Given the description of an element on the screen output the (x, y) to click on. 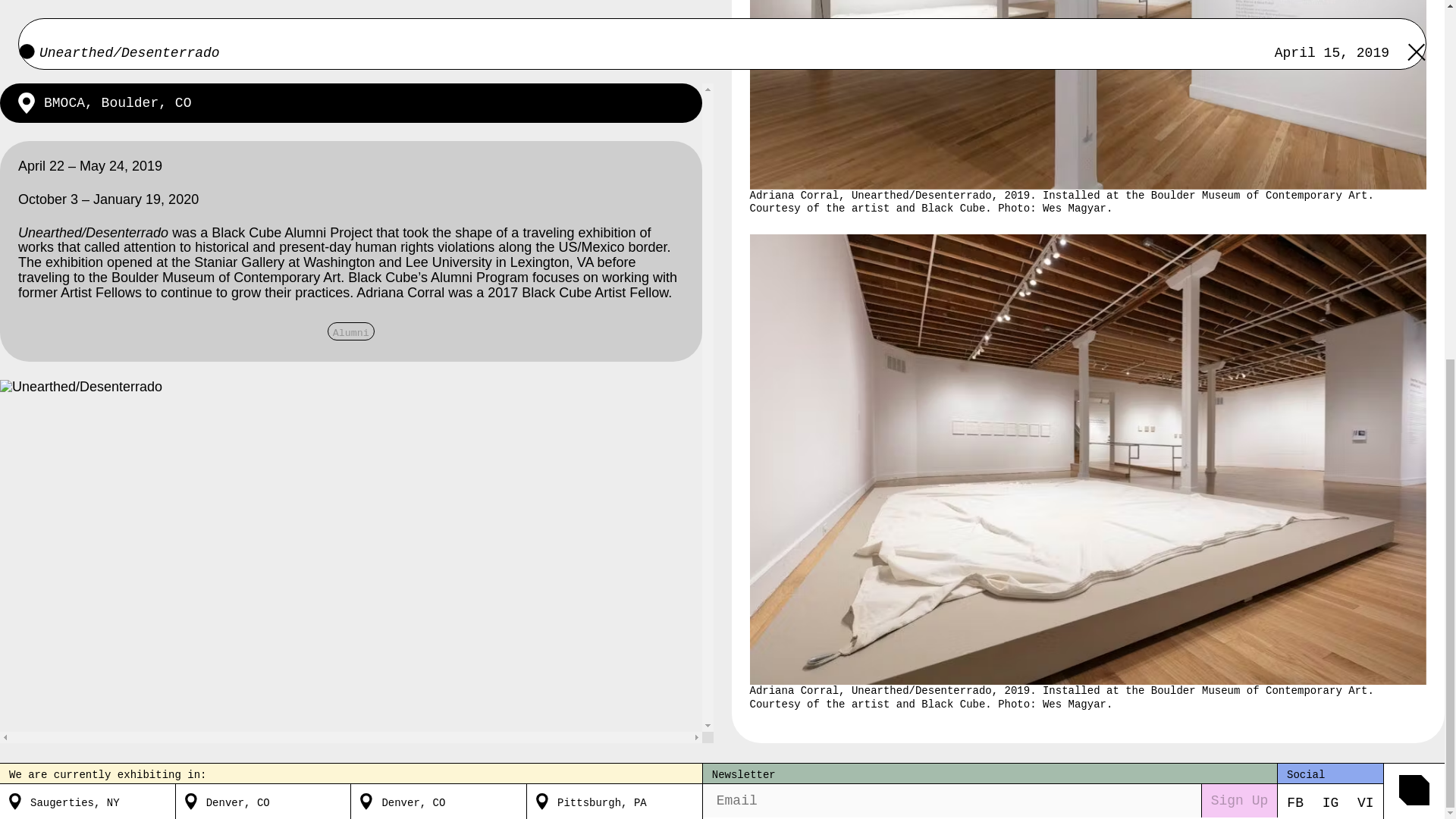
IG (1330, 165)
Saugerties, NY (74, 164)
Sign Up (1238, 163)
Denver, CO (413, 164)
FB (1295, 165)
Denver, CO (237, 164)
Pittsburgh, PA (601, 164)
VI (1365, 165)
